Given the description of an element on the screen output the (x, y) to click on. 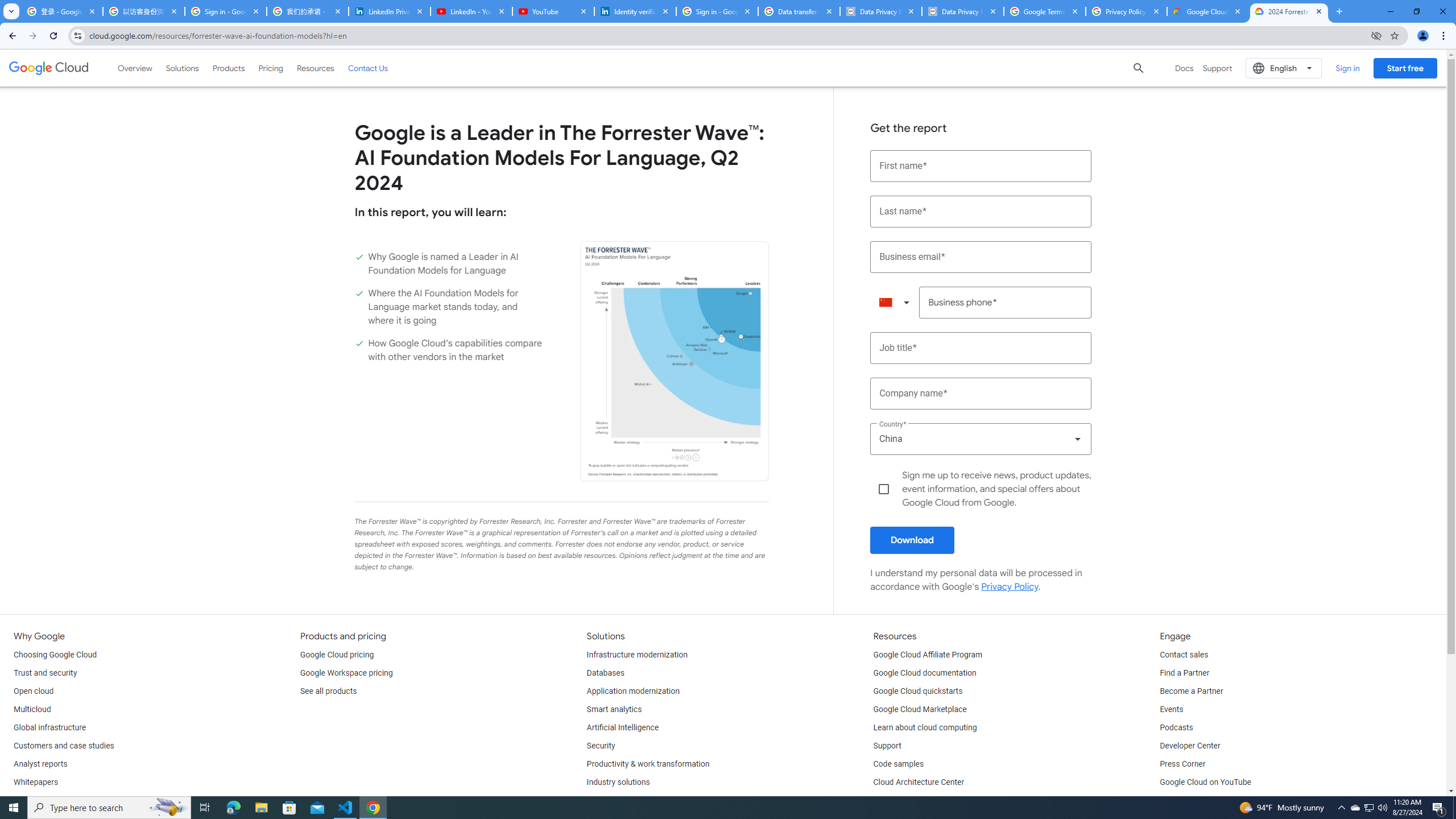
Become a Partner (1190, 691)
Business phone* (1005, 302)
Whitepapers (35, 782)
Databases (605, 673)
Industry solutions (617, 782)
LinkedIn - YouTube (470, 11)
Business email* (981, 256)
YouTube (552, 11)
Google Workspace pricing (346, 673)
Application modernization (632, 691)
Events (1170, 710)
